Given the description of an element on the screen output the (x, y) to click on. 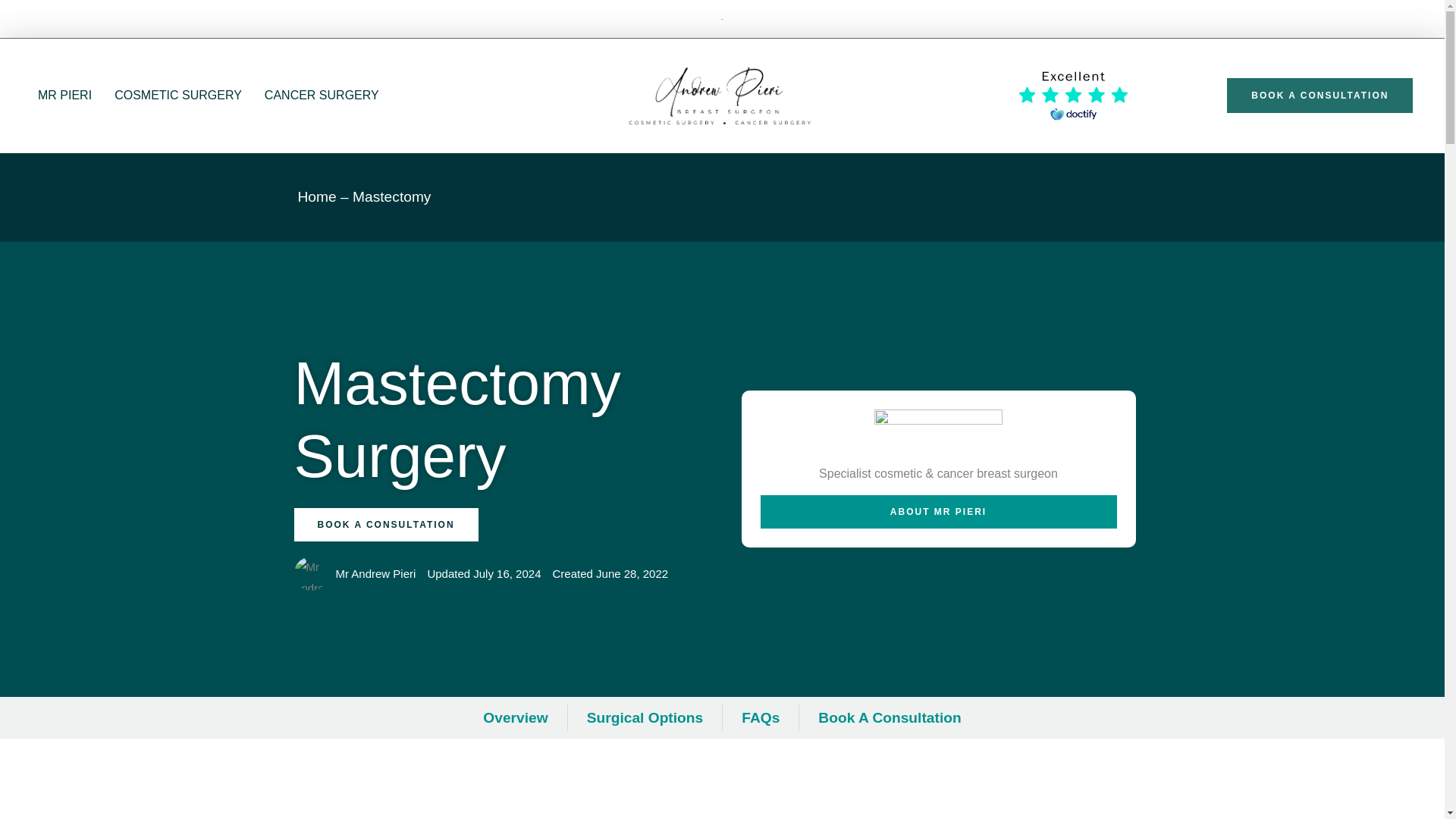
MR PIERI (64, 95)
CANCER SURGERY (321, 95)
COSMETIC SURGERY (178, 95)
